Given the description of an element on the screen output the (x, y) to click on. 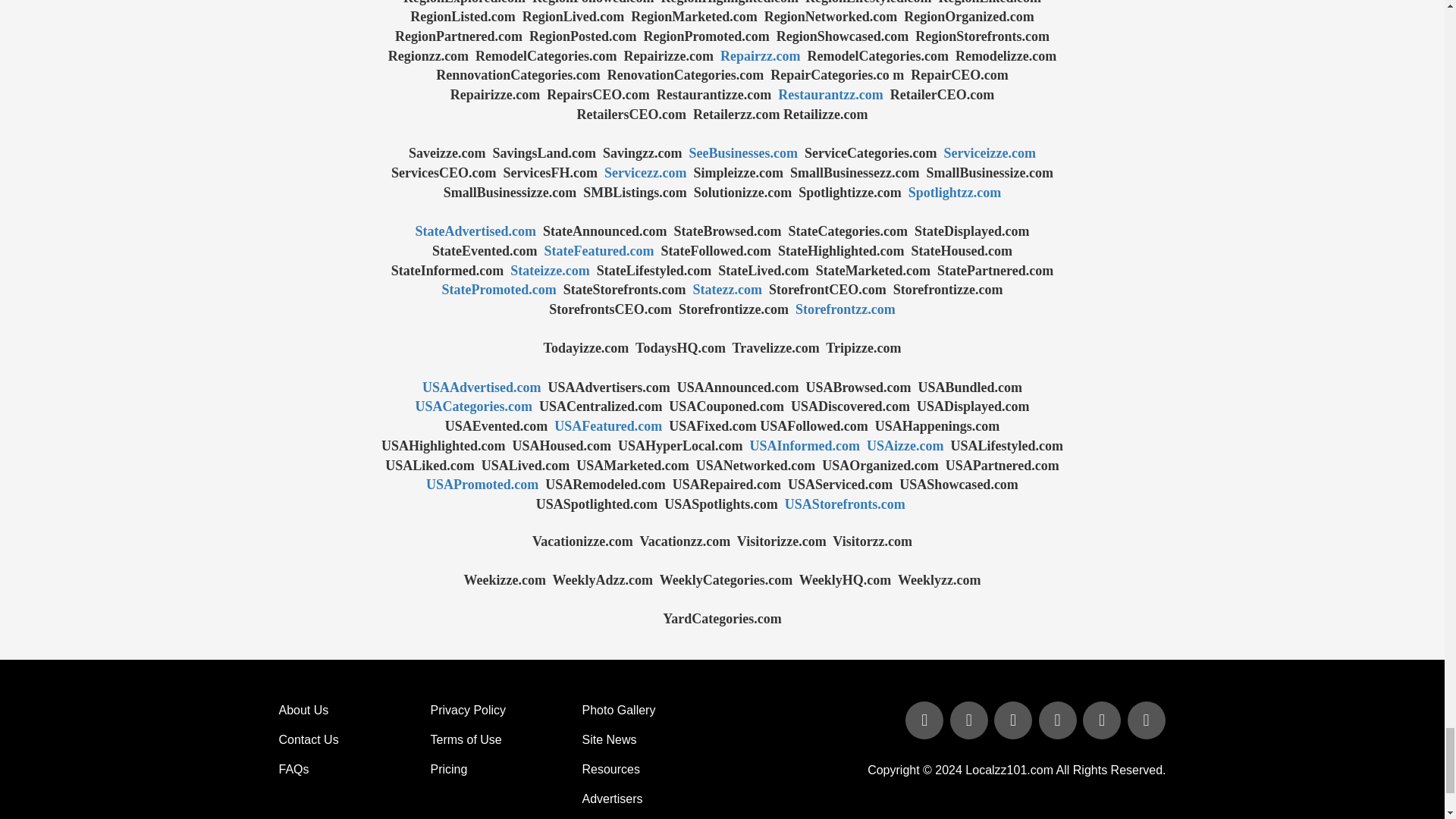
Follow Us on Twitter (970, 721)
Follow Us on You Tube (1058, 721)
Follow Us on Linked In (1014, 721)
Follow Us on Facebook (925, 721)
Follow Us on Instagram (1145, 721)
Follow Us on Pinterest (1103, 721)
